Given the description of an element on the screen output the (x, y) to click on. 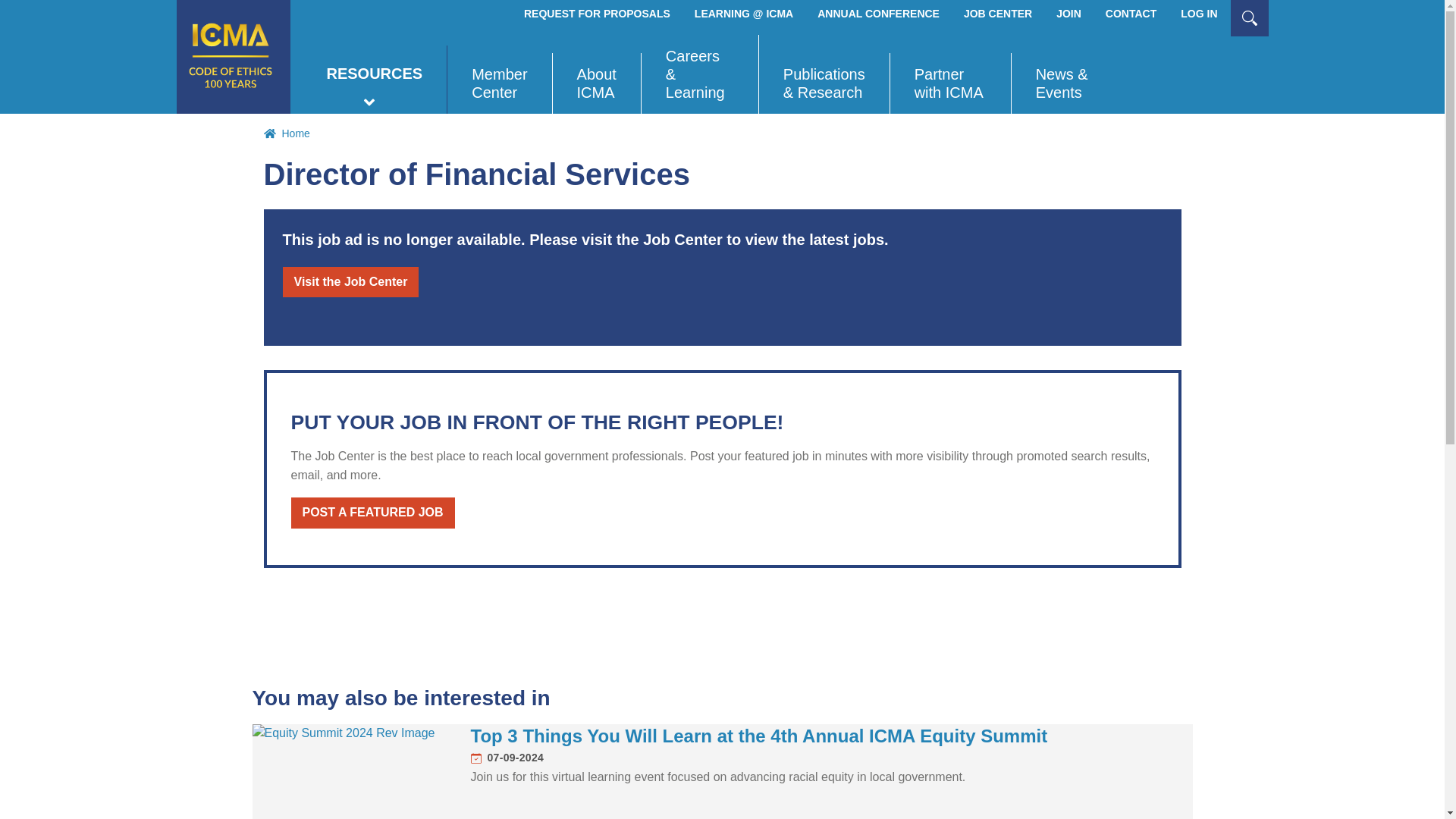
View ICMA's Requests for Proposals (597, 14)
RESOURCES (373, 79)
3rd party ad content (539, 626)
Skip to main content (721, 1)
Home (232, 56)
